Given the description of an element on the screen output the (x, y) to click on. 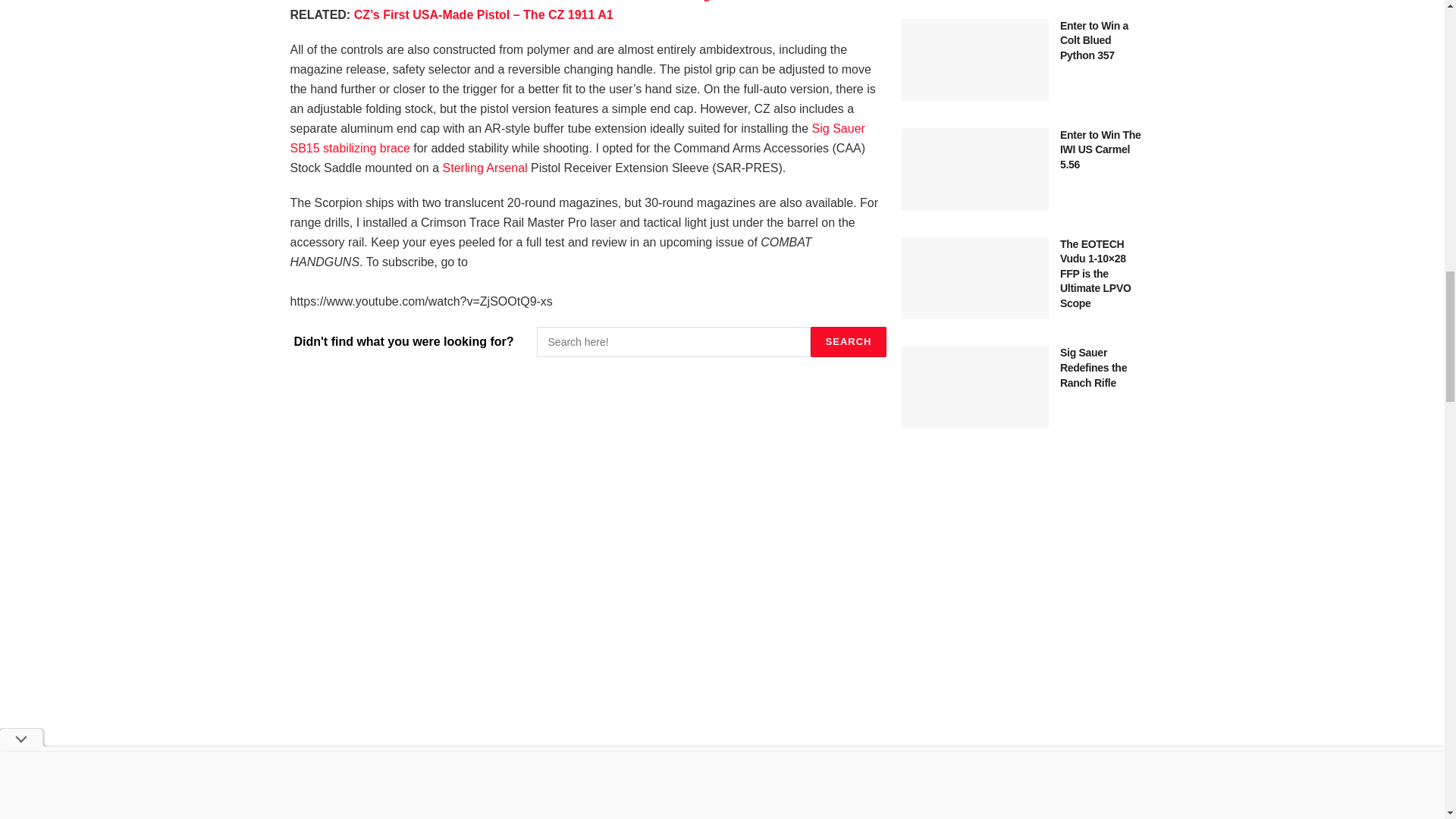
3rd party ad content (1024, 579)
3rd party ad content (1024, 762)
